Given the description of an element on the screen output the (x, y) to click on. 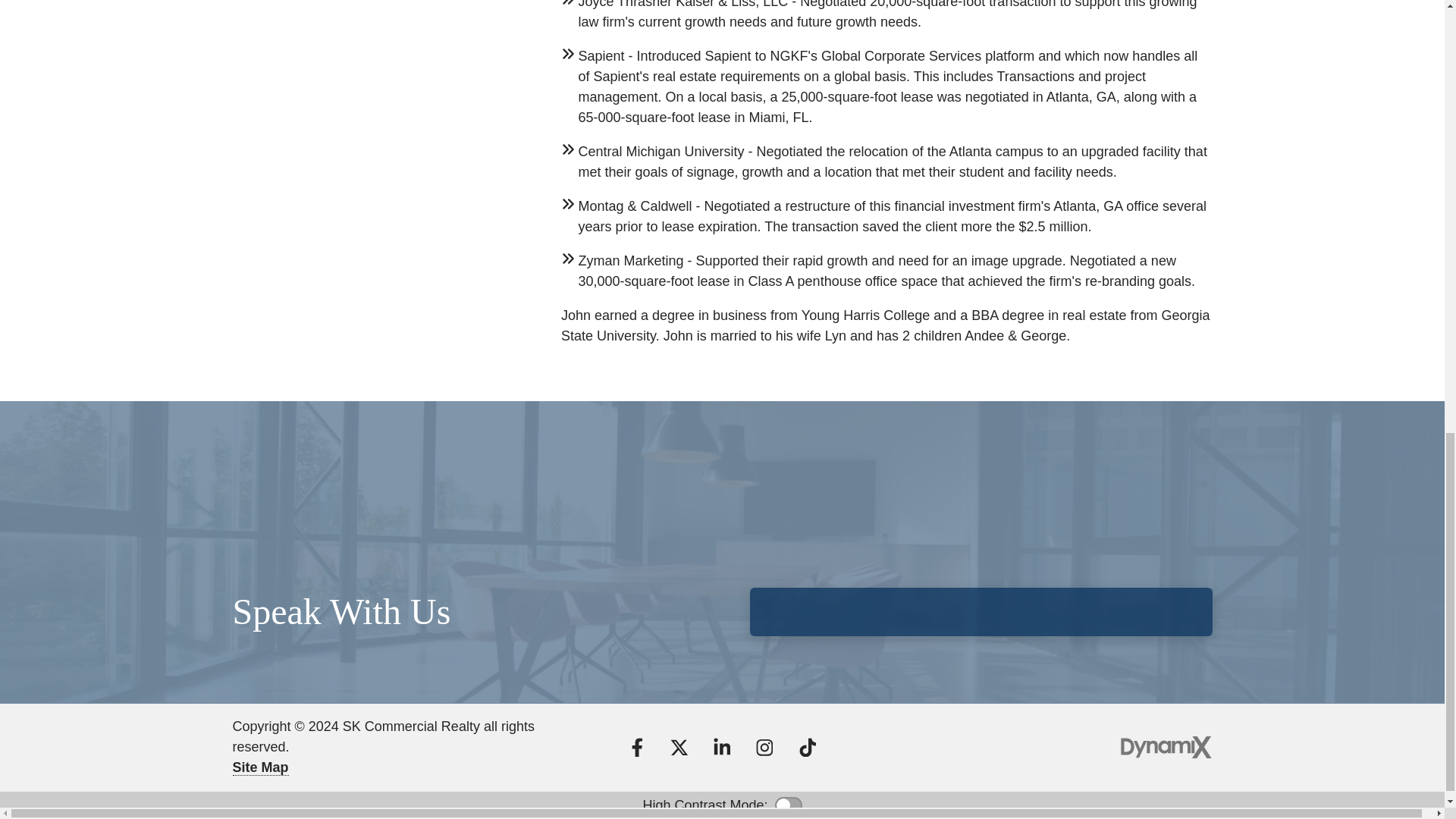
Color Contrast (788, 805)
Tiktok (807, 747)
Instagram (765, 747)
Site Map (259, 767)
tiktok (807, 747)
LinkedIn (721, 747)
LinkedIn (721, 747)
Instagram (765, 747)
Facebook (636, 747)
Facebook (636, 747)
